Given the description of an element on the screen output the (x, y) to click on. 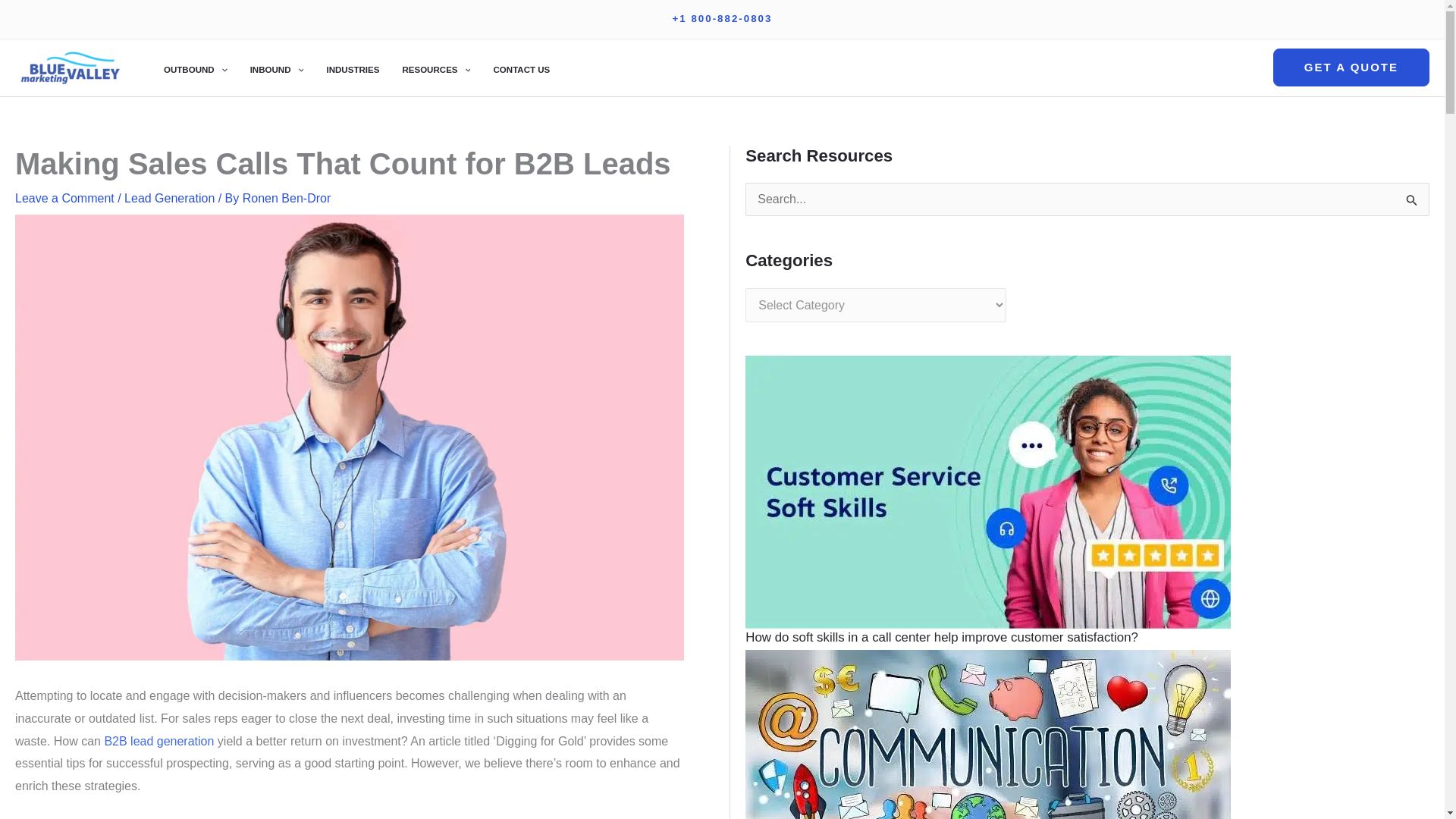
B2B lead generation (158, 740)
GET A QUOTE (1350, 67)
Lead Generation (168, 197)
Tips for Successful Communication in E-Commerce 8 (987, 792)
View all posts by Ronen Ben-Dror (287, 197)
CONTACT US (520, 67)
INBOUND (276, 67)
INDUSTRIES (352, 67)
RESOURCES (435, 67)
OUTBOUND (195, 67)
